Given the description of an element on the screen output the (x, y) to click on. 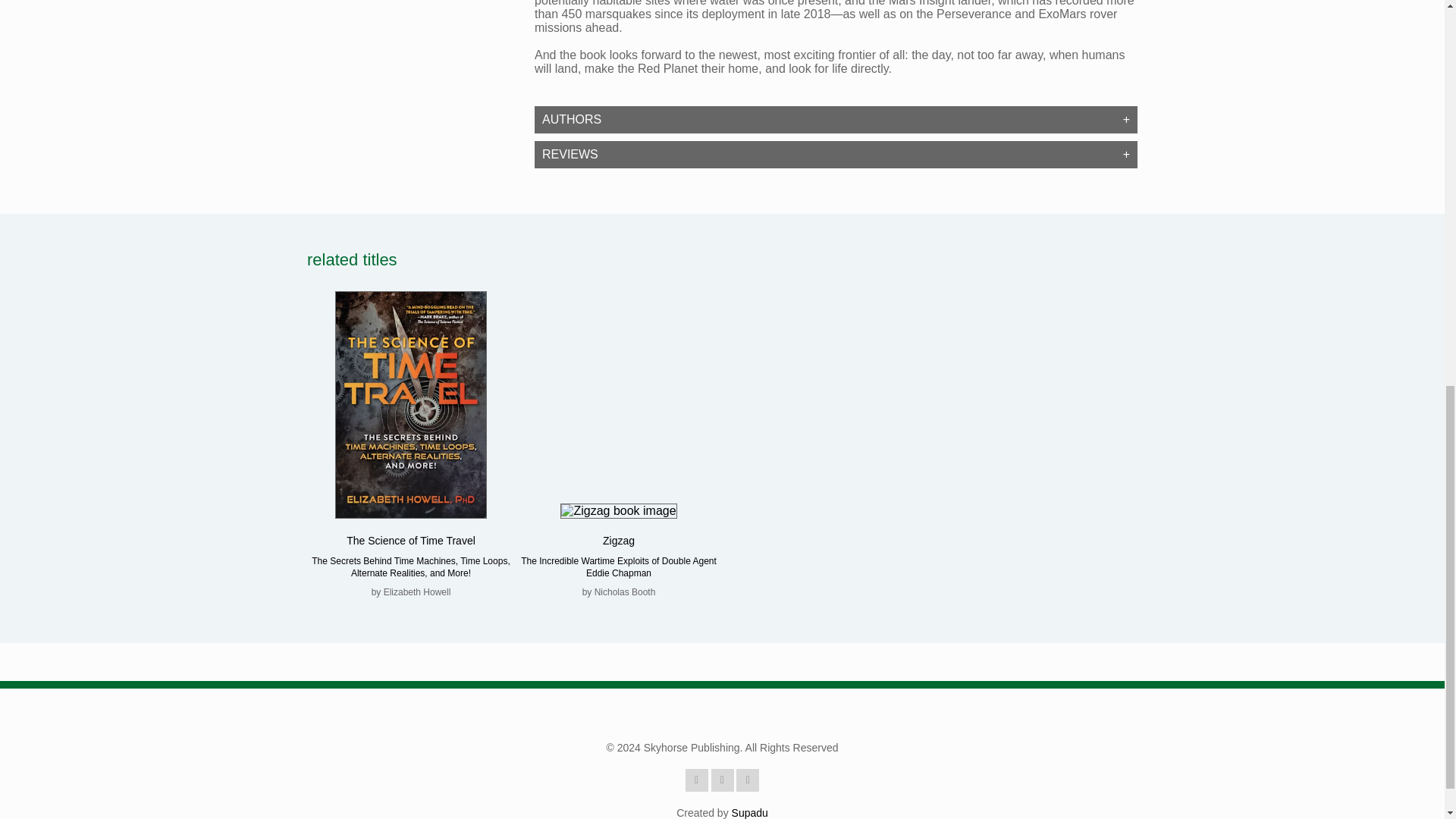
Follow us on Twitter (747, 780)
Follow us on Instagram (722, 780)
Zigzag (618, 540)
View Zigzag (618, 510)
The Science of Time Travel (411, 540)
Follow us on Facebook (696, 780)
View The Science of Time Travel (411, 540)
View Zigzag (618, 540)
